Given the description of an element on the screen output the (x, y) to click on. 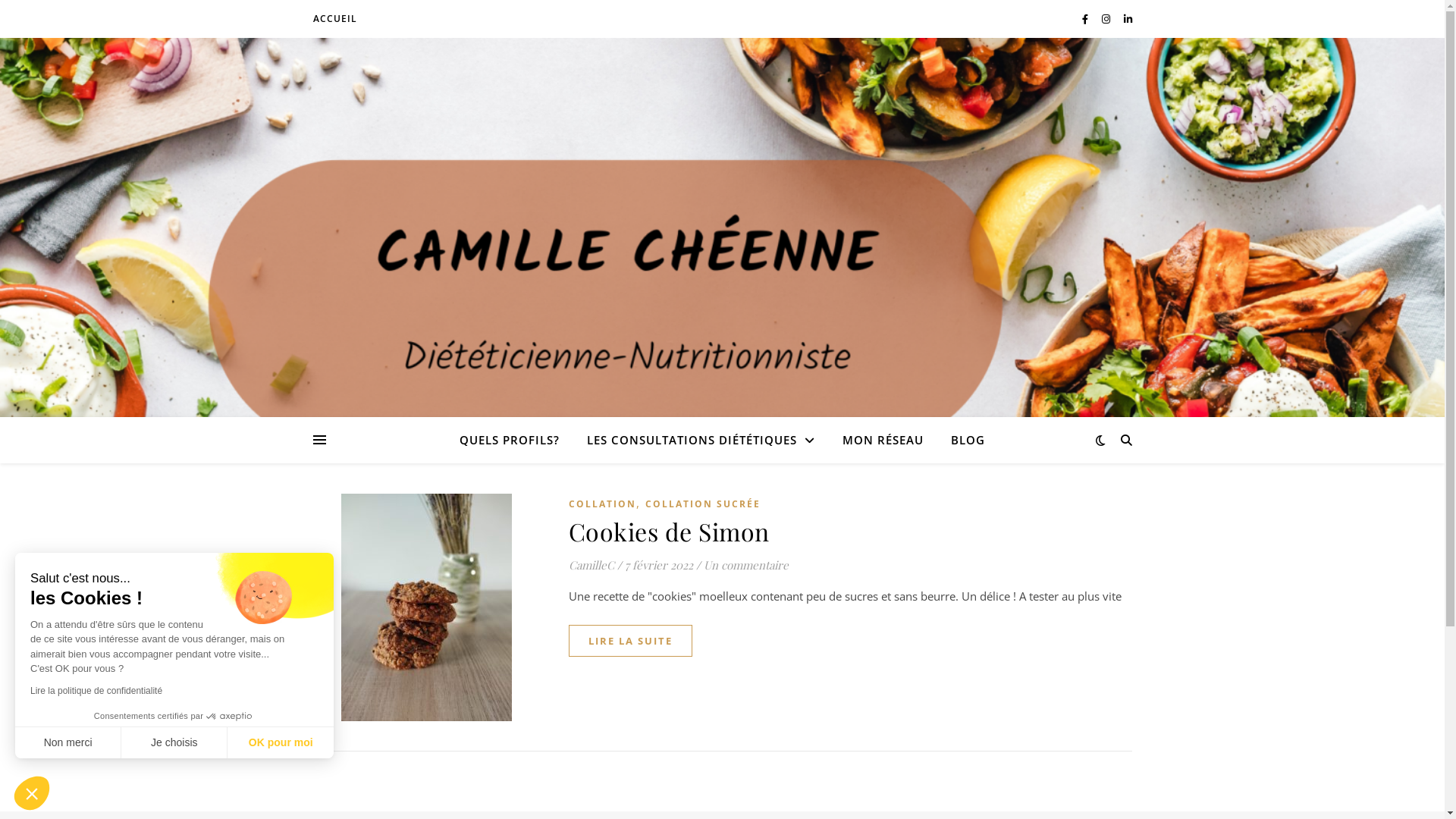
CamilleC Element type: text (591, 564)
ACCUEIL Element type: text (334, 18)
COLLATION Element type: text (602, 504)
Non merci Element type: text (68, 742)
OK pour moi Element type: text (280, 742)
Cookies de Simon Element type: text (668, 530)
LIRE LA SUITE Element type: text (630, 640)
Je choisis Element type: text (174, 742)
Fermer le widget sans consentement Element type: hover (31, 793)
Un commentaire Element type: text (745, 564)
BLOG Element type: text (961, 439)
QUELS PROFILS? Element type: text (515, 439)
